Given the description of an element on the screen output the (x, y) to click on. 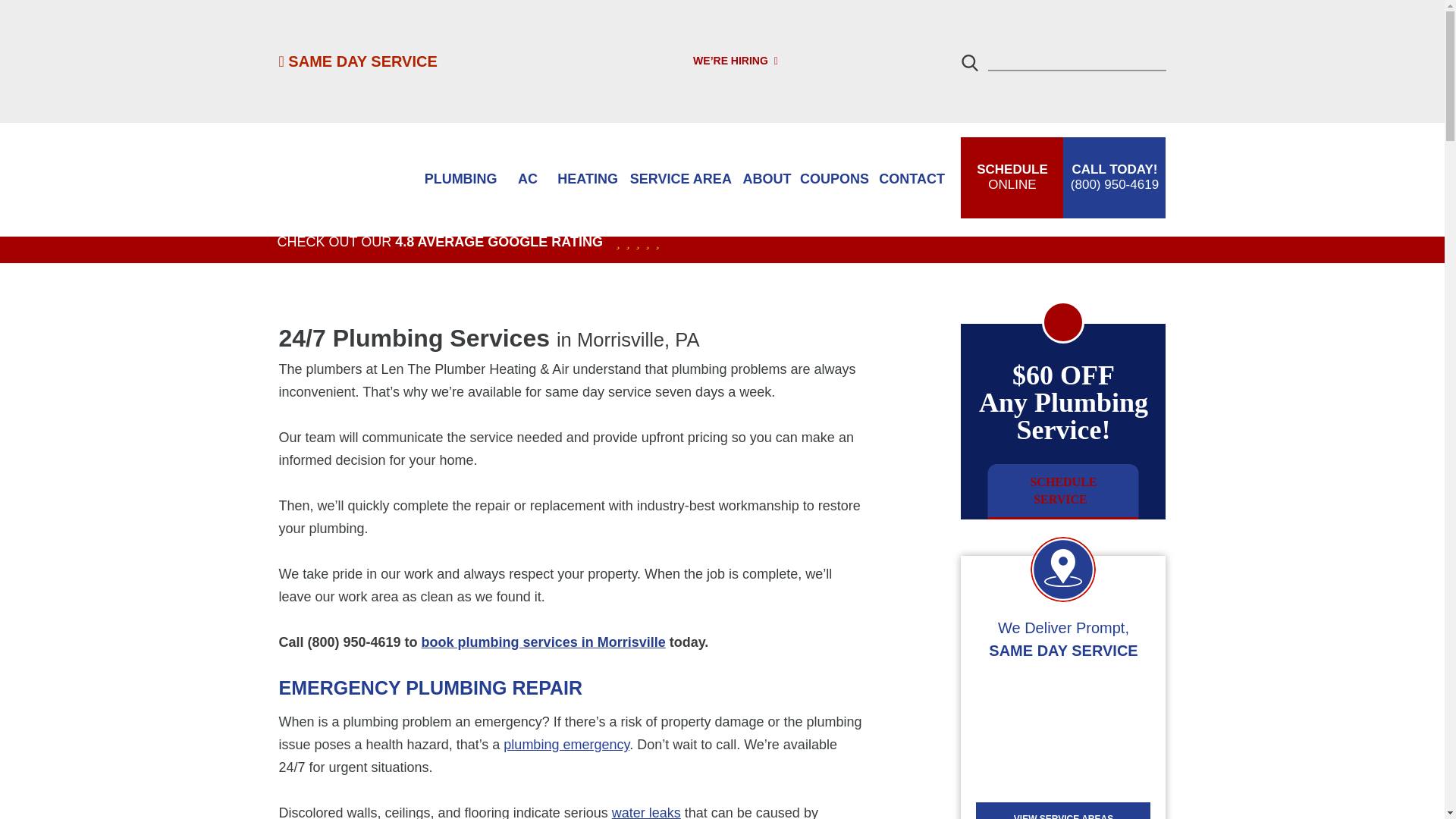
Read our reviews (440, 242)
Save Today (1063, 491)
Len The Plumber (343, 178)
PLUMBING (358, 61)
Read our reviews (460, 179)
Same Day Service  (631, 242)
